Given the description of an element on the screen output the (x, y) to click on. 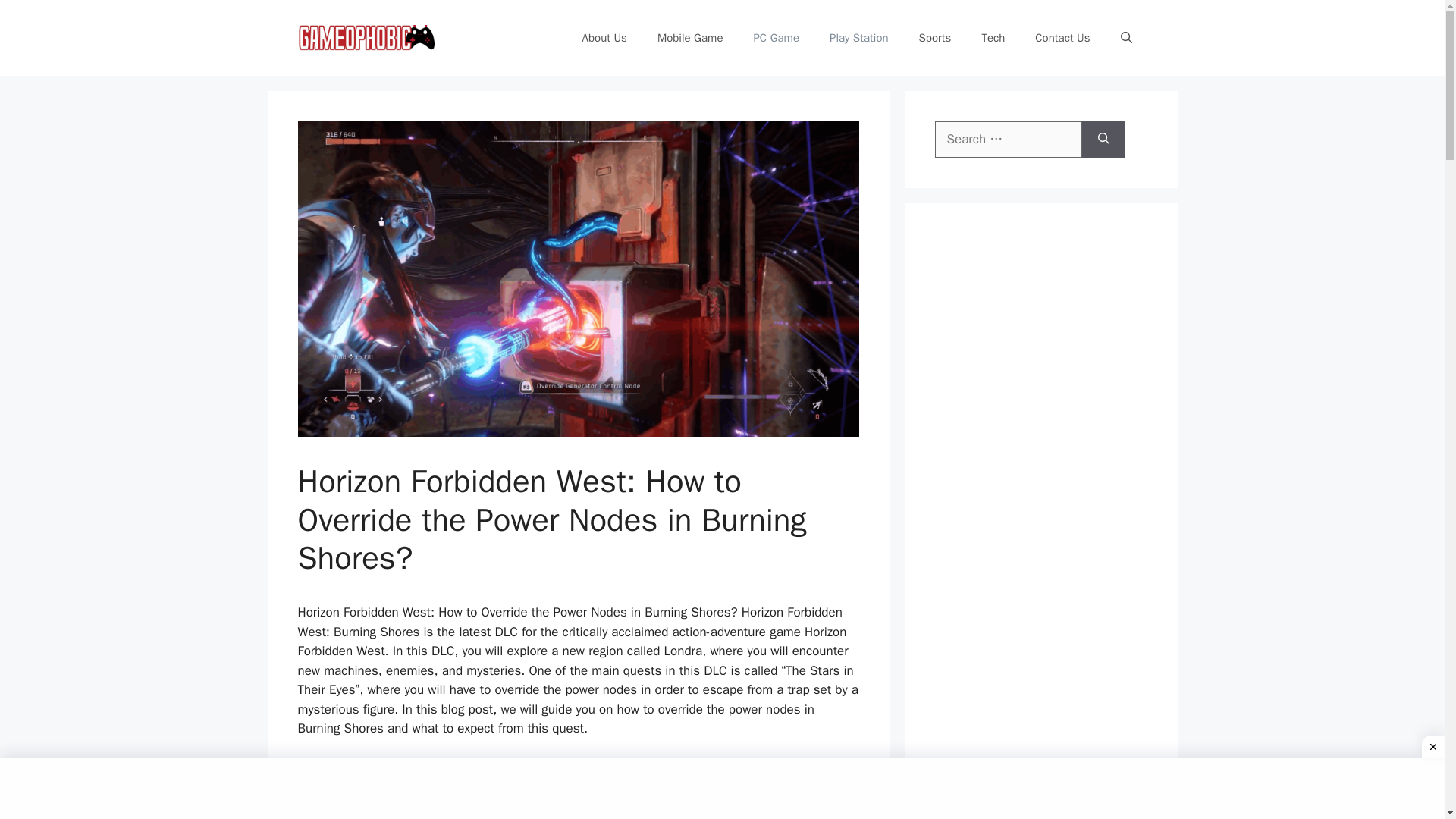
Contact Us (1062, 37)
Mobile Game (690, 37)
Tech (993, 37)
Sports (935, 37)
Play Station (858, 37)
Search for: (1007, 139)
About Us (604, 37)
PC Game (775, 37)
